Given the description of an element on the screen output the (x, y) to click on. 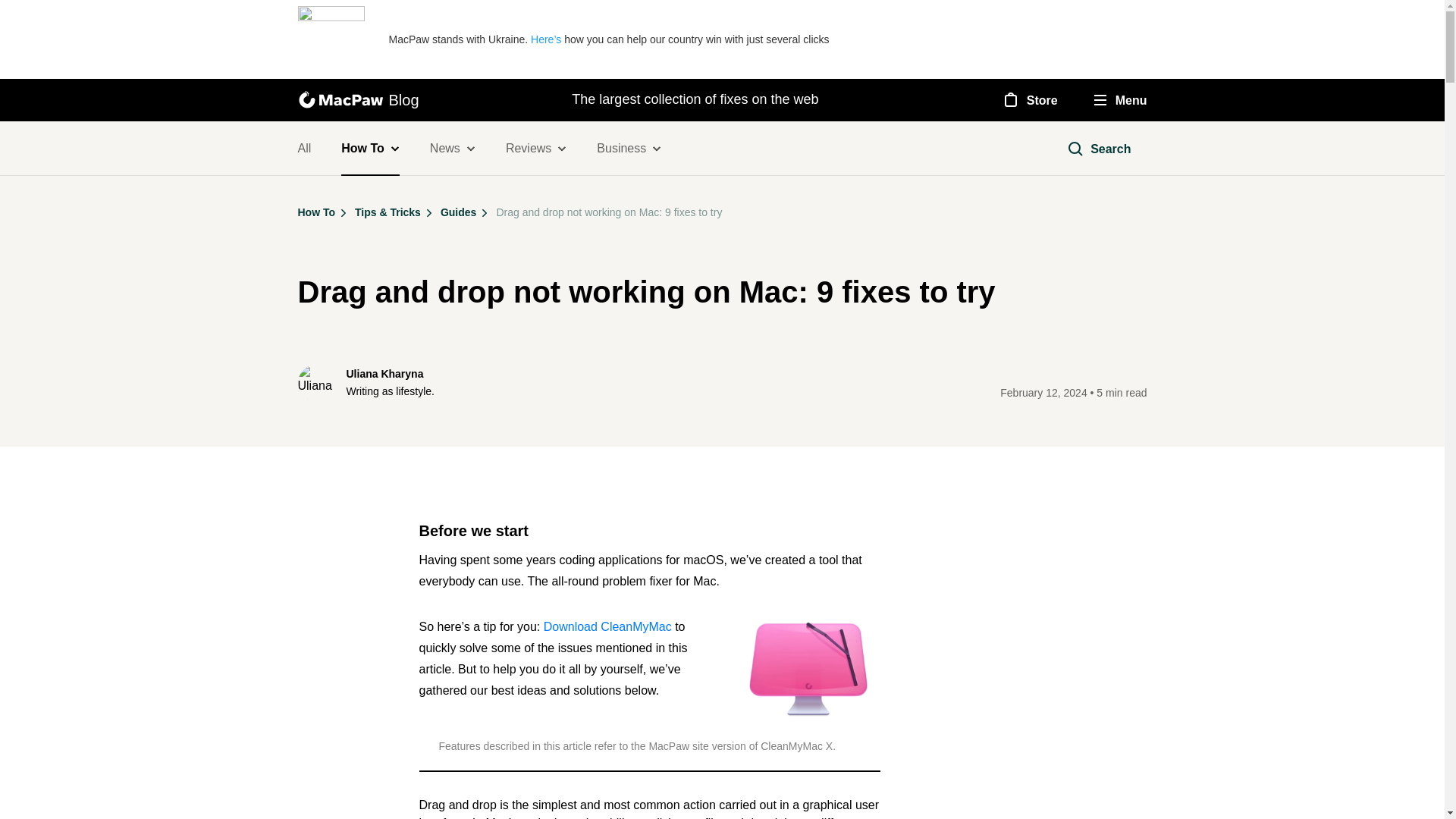
Search (1098, 148)
How To (369, 148)
News (452, 148)
Blog (358, 99)
Business (628, 148)
Reviews (535, 148)
Store (1029, 99)
Menu (1120, 99)
